Given the description of an element on the screen output the (x, y) to click on. 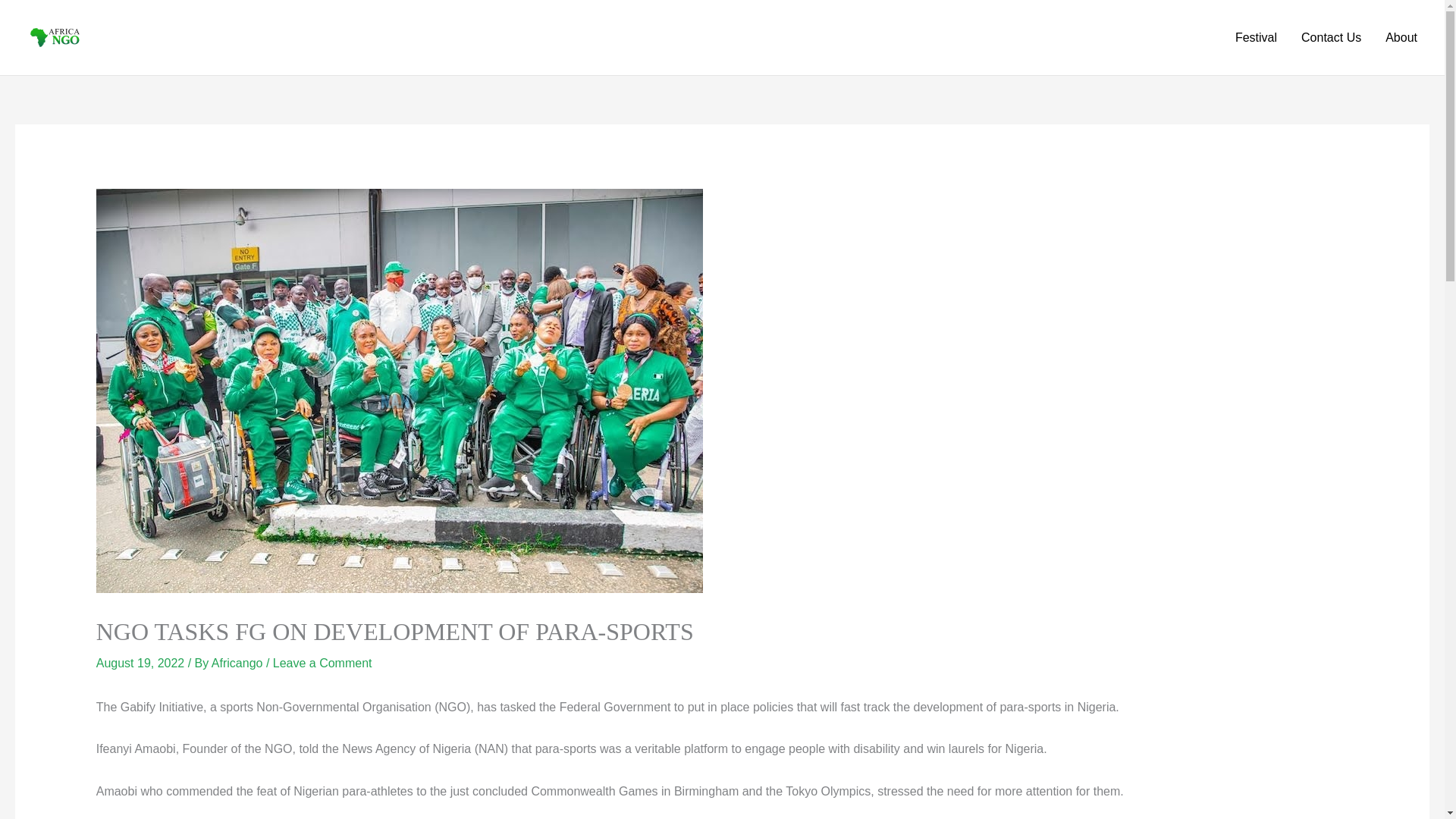
Festival (1255, 37)
View all posts by Africango (238, 662)
Leave a Comment (322, 662)
Contact Us (1330, 37)
Africango (238, 662)
About (1401, 37)
